Given the description of an element on the screen output the (x, y) to click on. 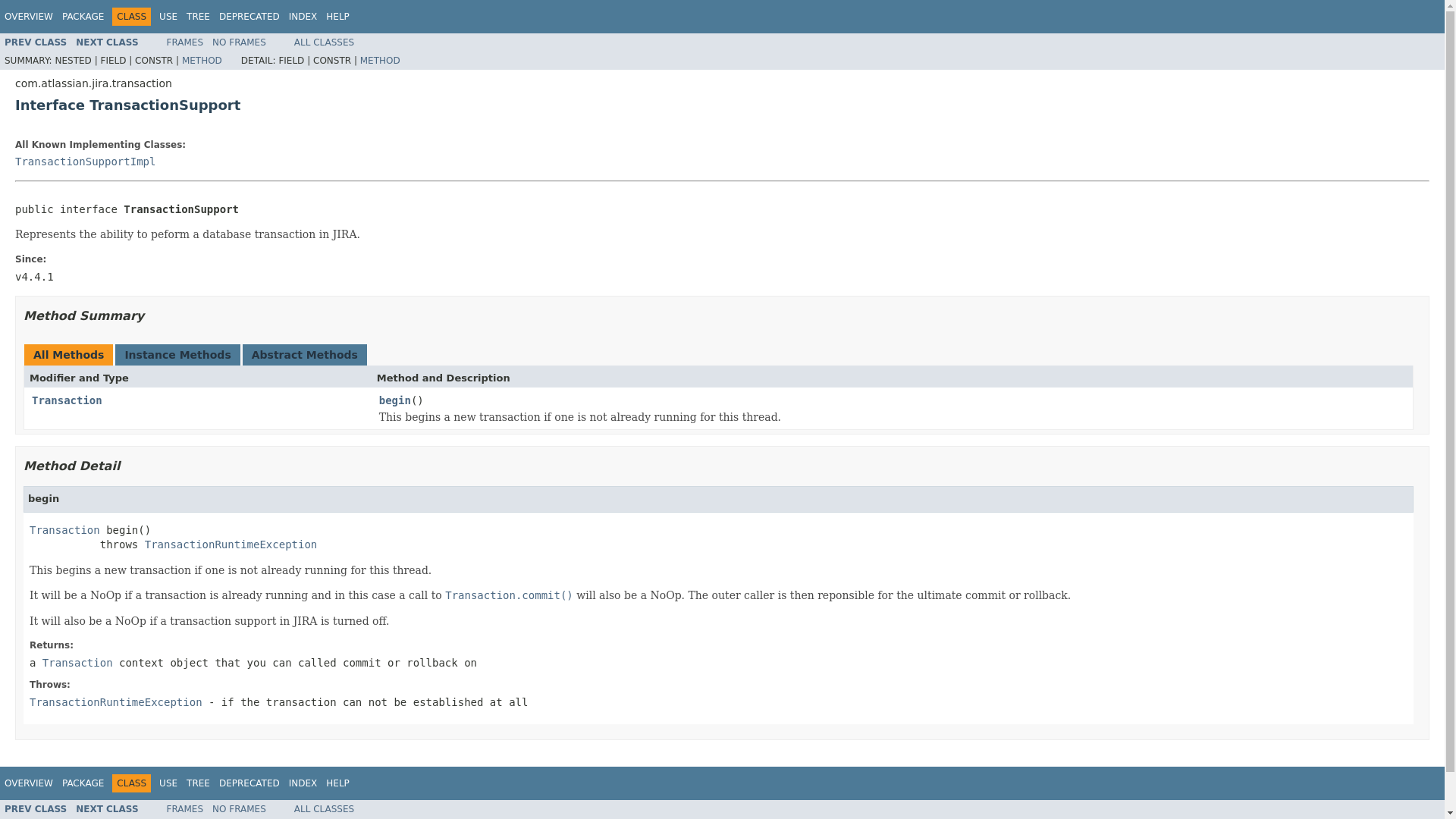
class in com.atlassian.jira.transaction (106, 808)
METHOD (202, 60)
Navigation (176, 16)
NO FRAMES (239, 41)
interface in com.atlassian.jira.transaction (64, 529)
FRAMES (185, 41)
METHOD (379, 60)
Instance Methods (176, 354)
OVERVIEW (28, 16)
TREE (197, 16)
